Given the description of an element on the screen output the (x, y) to click on. 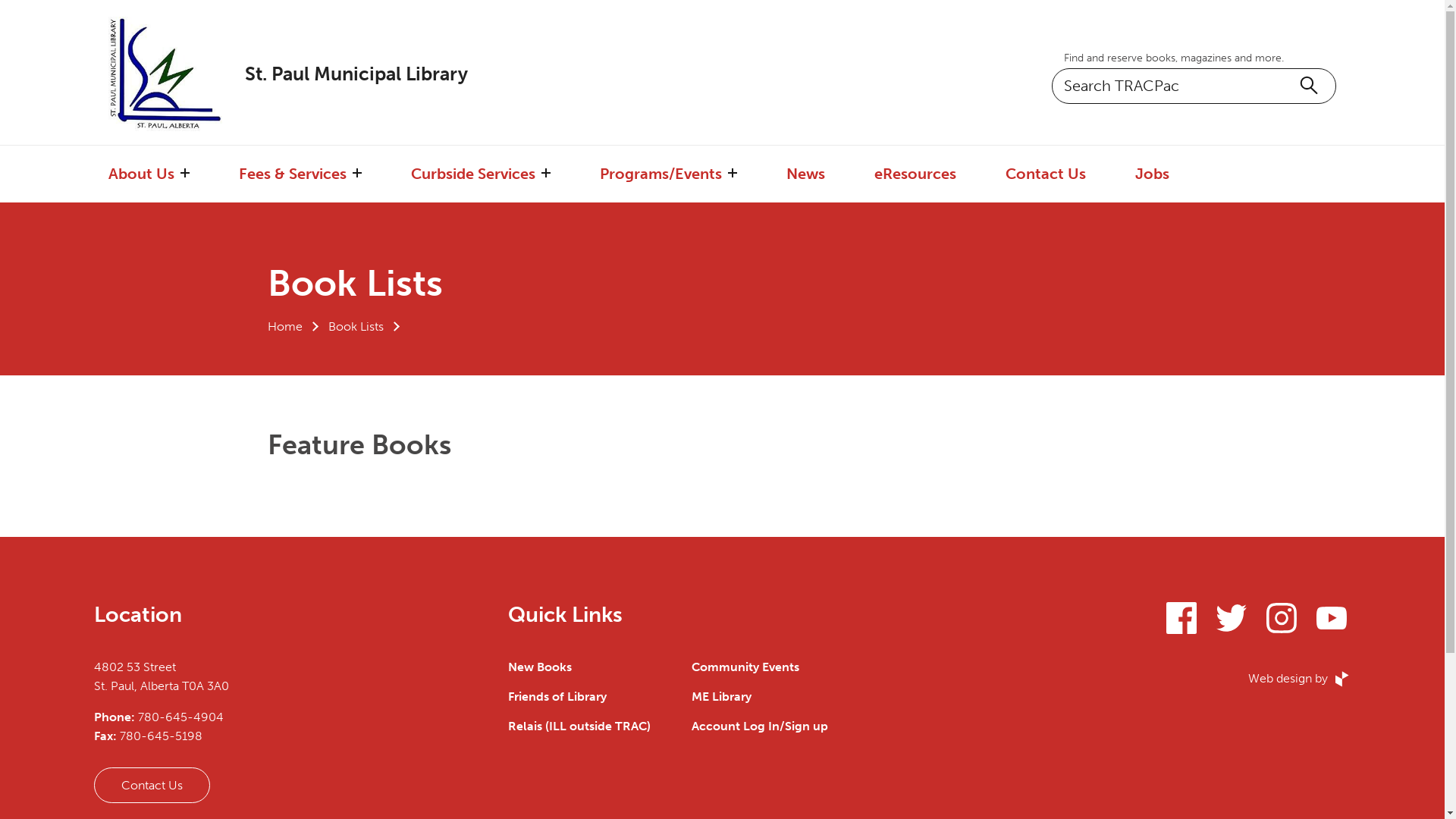
Programs/Events Element type: text (660, 173)
Community Events Element type: text (745, 666)
Friends of Library Element type: text (557, 696)
Youtube page Element type: hover (1331, 619)
Web design by Element type: text (1299, 678)
Twitter page Element type: hover (1231, 619)
Instagram page Element type: hover (1281, 619)
Curbside Services Element type: text (473, 173)
Facebook page Element type: hover (1181, 619)
Jobs Element type: text (1152, 173)
Relais (ILL outside TRAC) Element type: text (579, 725)
St. Paul Municipal Library Element type: text (303, 73)
About Us Element type: text (141, 173)
News Element type: text (805, 173)
eResources Element type: text (915, 173)
ME Library Element type: text (721, 696)
Contact Us Element type: text (152, 785)
Account Log In/Sign up Element type: text (759, 725)
Fees & Services Element type: text (292, 173)
New Books Element type: text (539, 666)
Contact Us Element type: text (1045, 173)
Home Element type: text (283, 326)
